Given the description of an element on the screen output the (x, y) to click on. 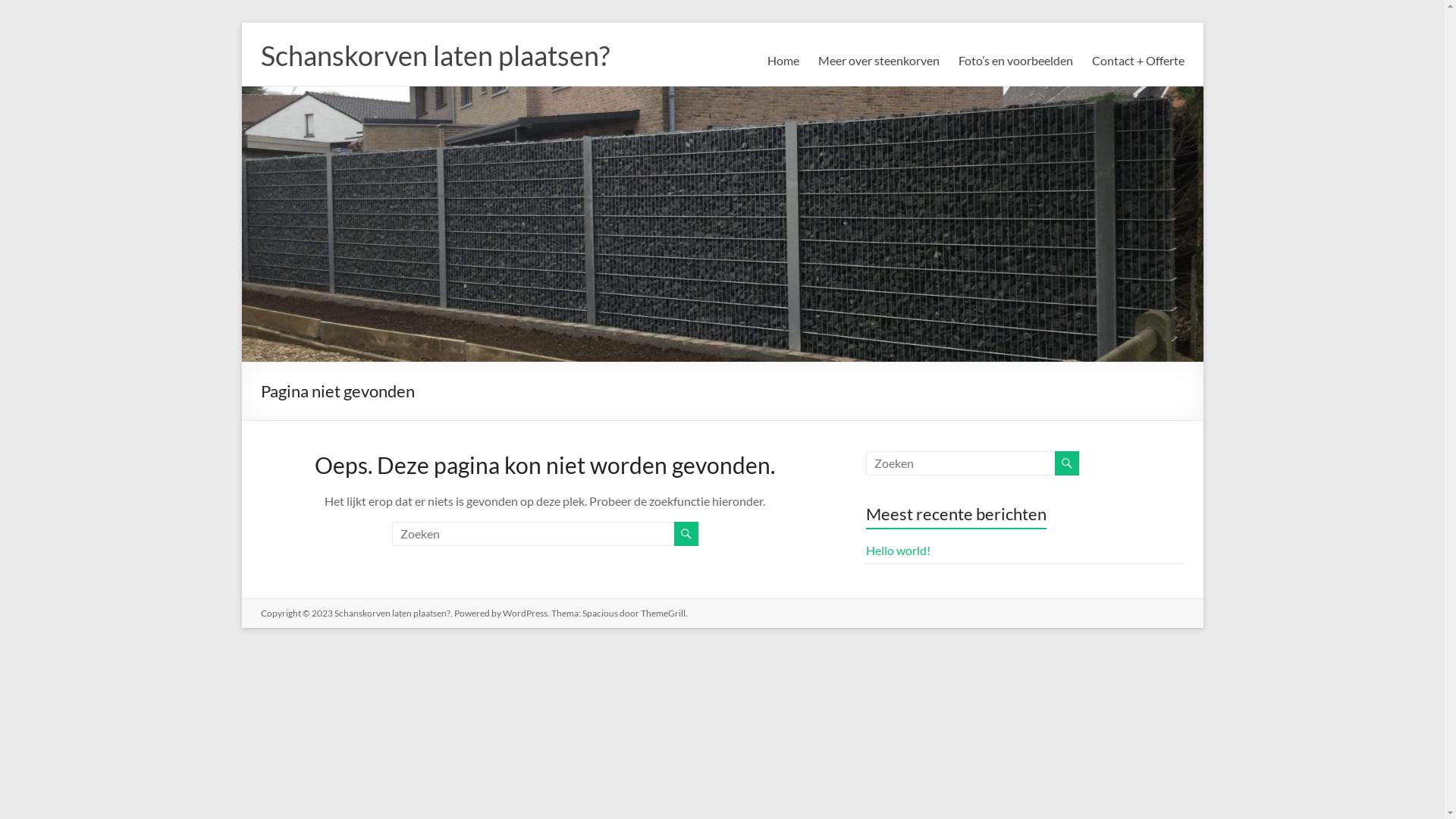
Home Element type: text (783, 60)
Schanskorven laten plaatsen? Element type: text (391, 612)
Meer over steenkorven Element type: text (877, 60)
Schanskorven laten plaatsen? Element type: text (434, 55)
ThemeGrill Element type: text (662, 612)
Hello world! Element type: text (898, 549)
WordPress Element type: text (524, 612)
Skip to content Element type: text (241, 21)
Contact + Offerte Element type: text (1138, 60)
